Given the description of an element on the screen output the (x, y) to click on. 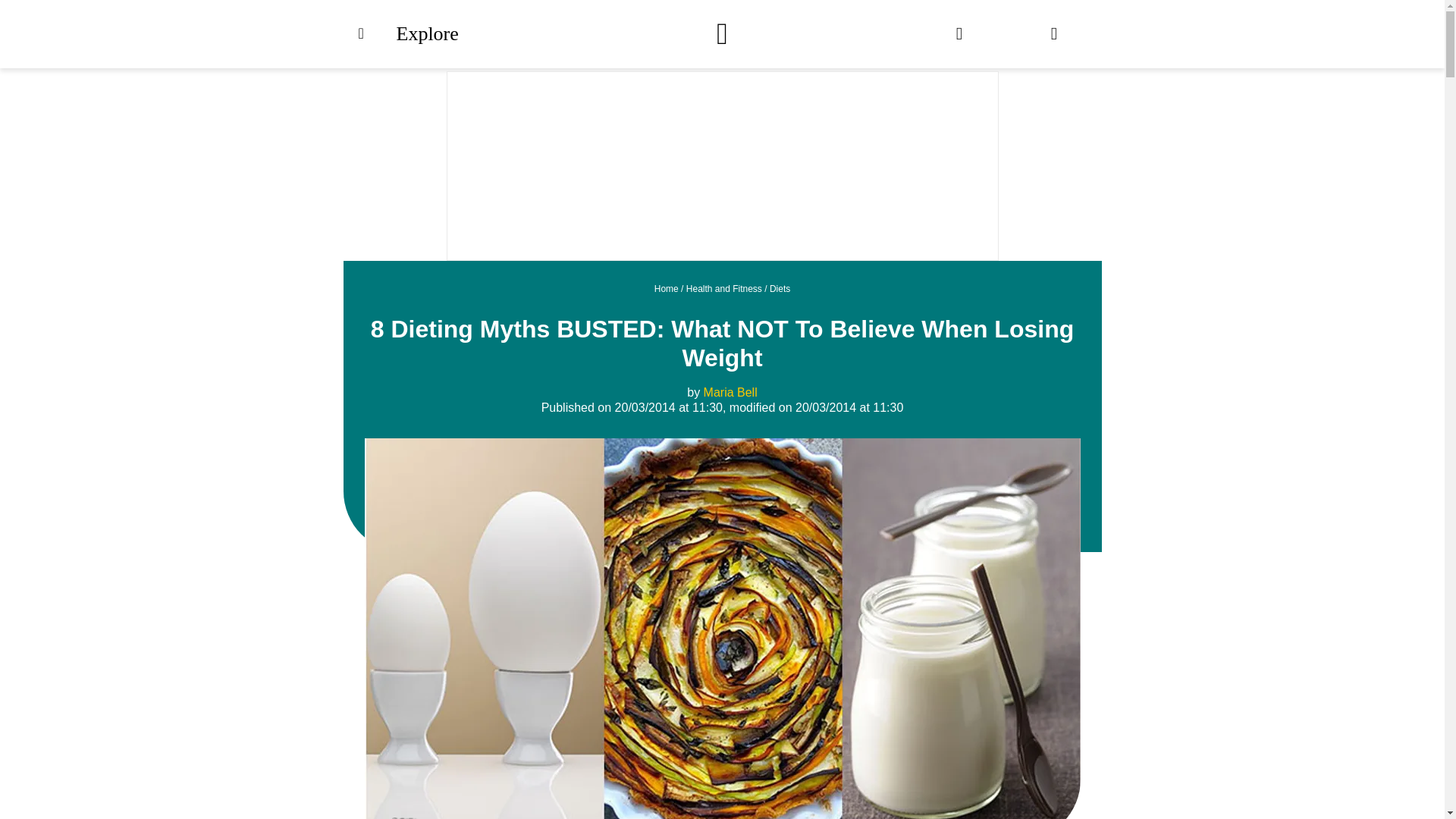
Health and Fitness (723, 288)
Maria Bell (730, 391)
Home (665, 288)
Diets (780, 288)
